Given the description of an element on the screen output the (x, y) to click on. 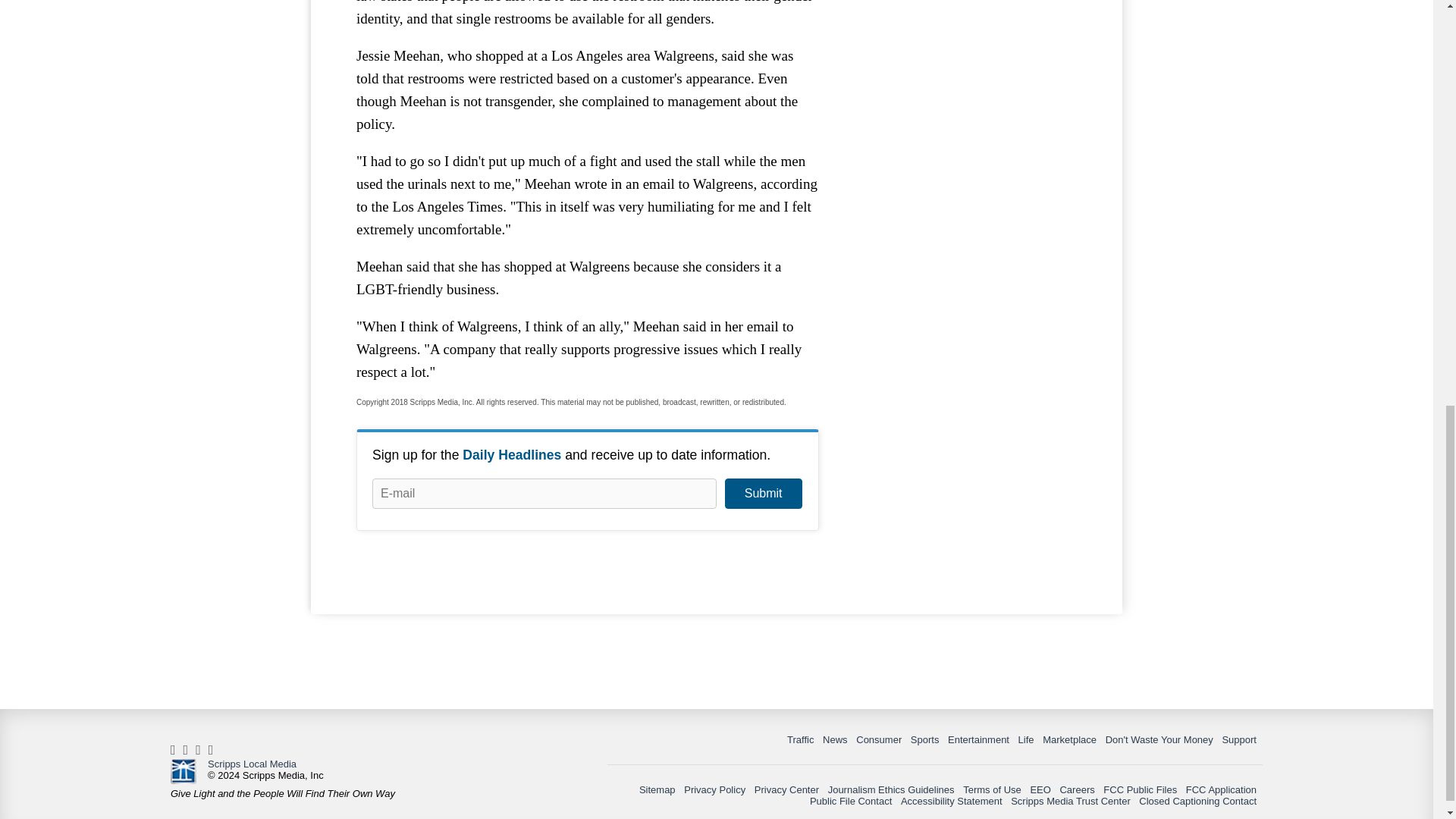
Submit (763, 493)
